Given the description of an element on the screen output the (x, y) to click on. 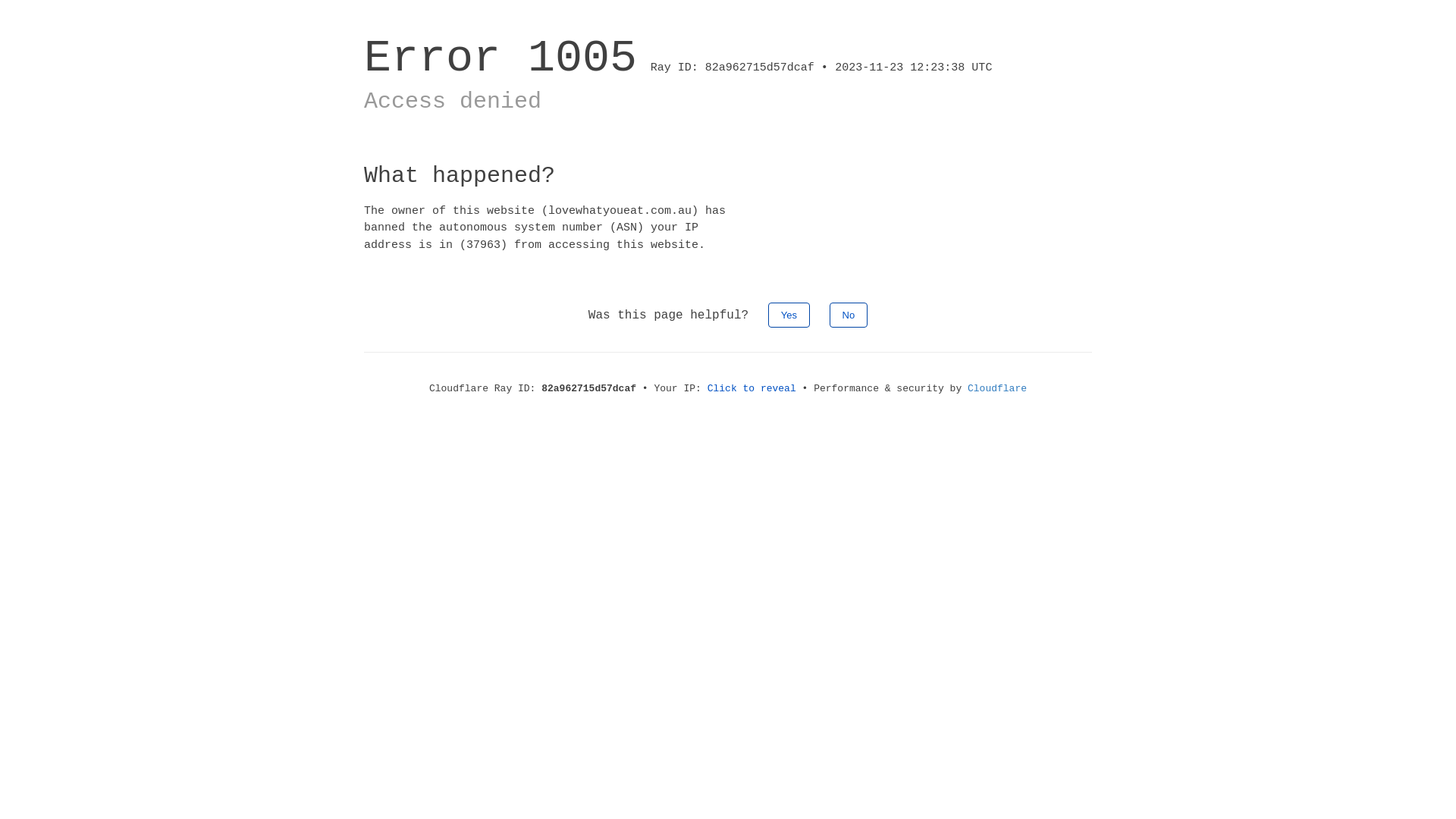
Yes Element type: text (788, 314)
Cloudflare Element type: text (996, 388)
Click to reveal Element type: text (751, 388)
No Element type: text (848, 314)
